Given the description of an element on the screen output the (x, y) to click on. 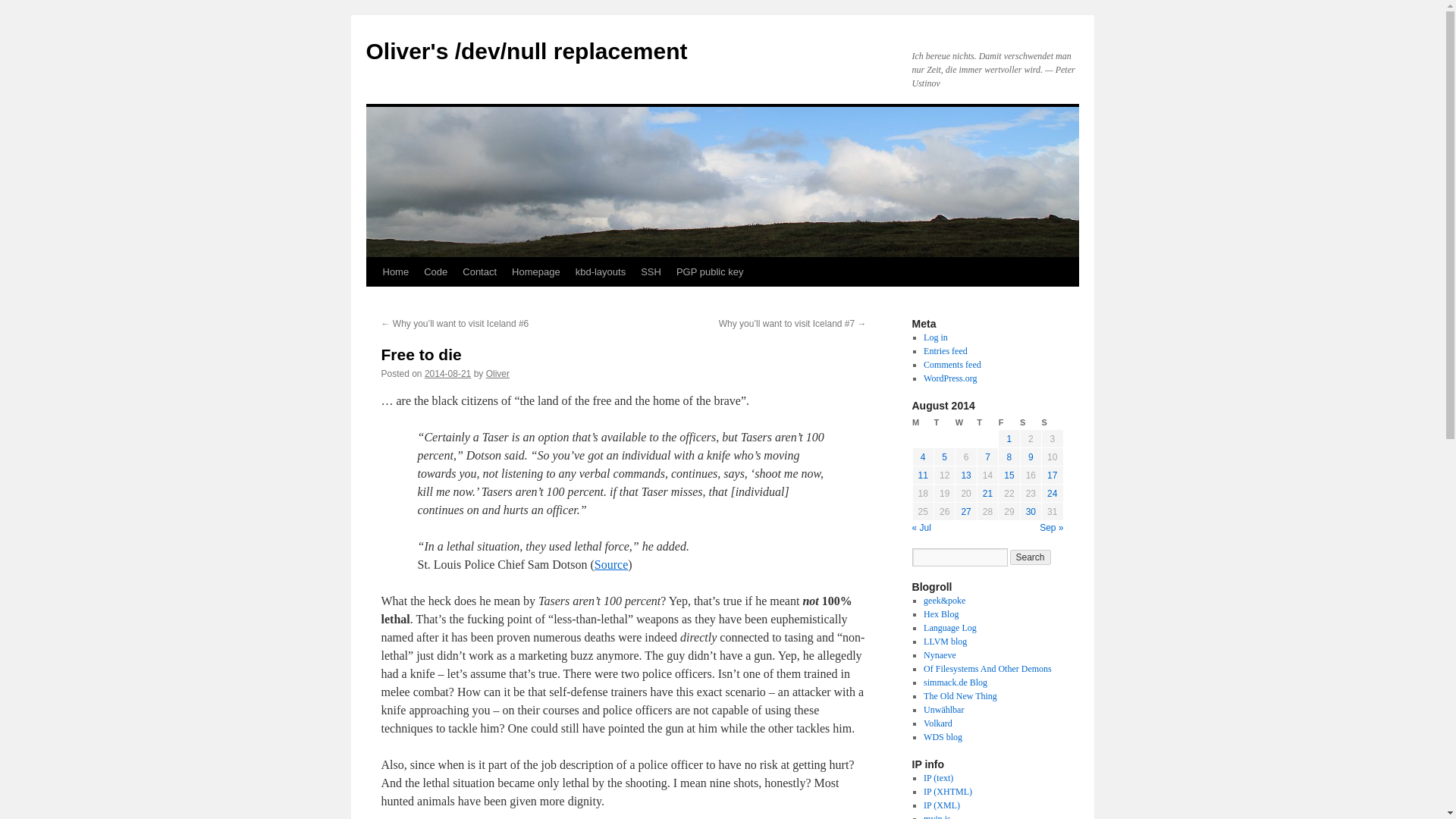
Entries feed (945, 350)
21:31 (447, 373)
Saturday (1030, 422)
Code (435, 271)
Sunday (1052, 422)
Home (395, 271)
13 (965, 475)
View all posts by Oliver (497, 373)
WordPress.org (949, 378)
PGP public key (709, 271)
